Given the description of an element on the screen output the (x, y) to click on. 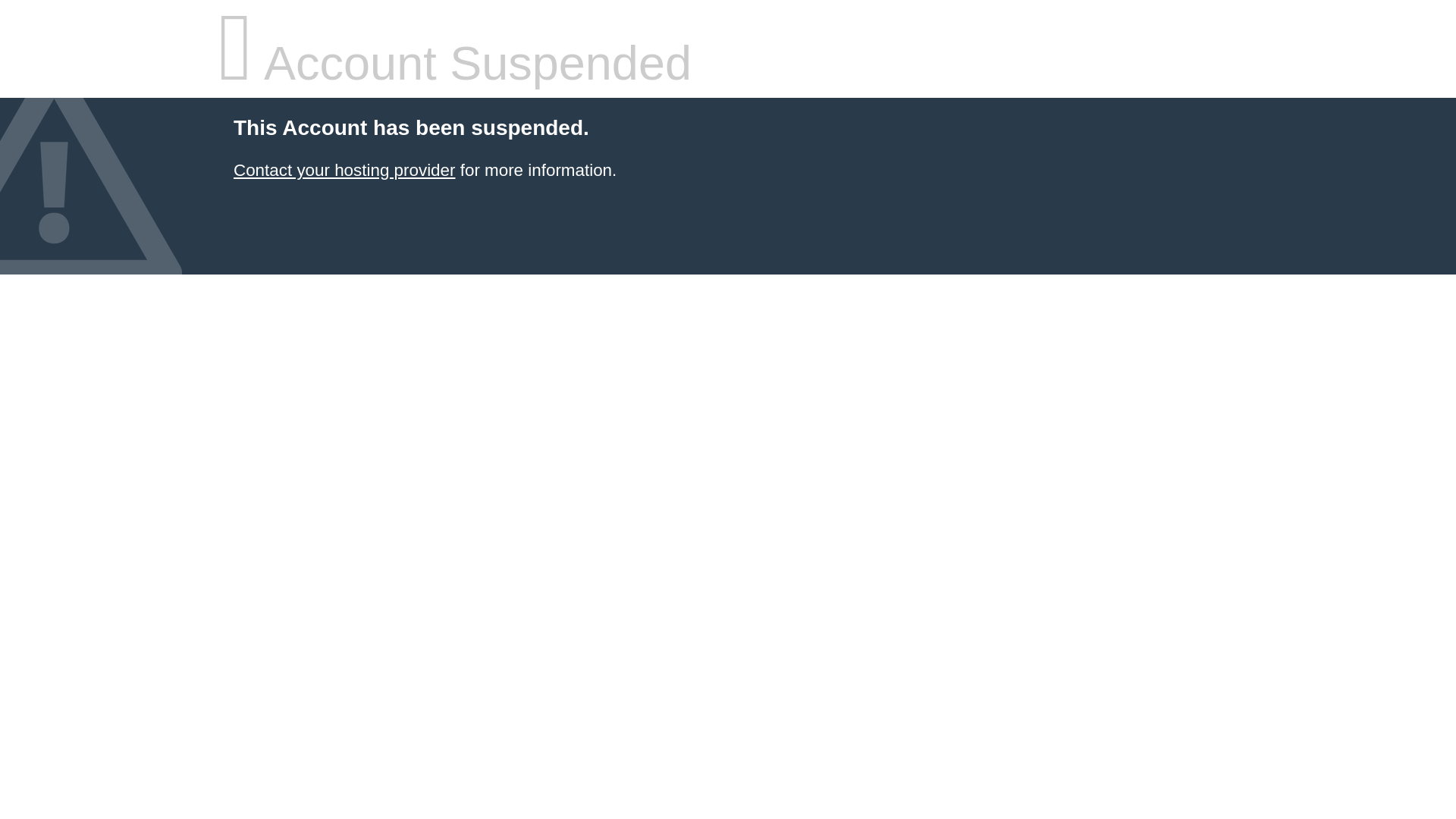
Contact your hosting provider (343, 169)
